Given the description of an element on the screen output the (x, y) to click on. 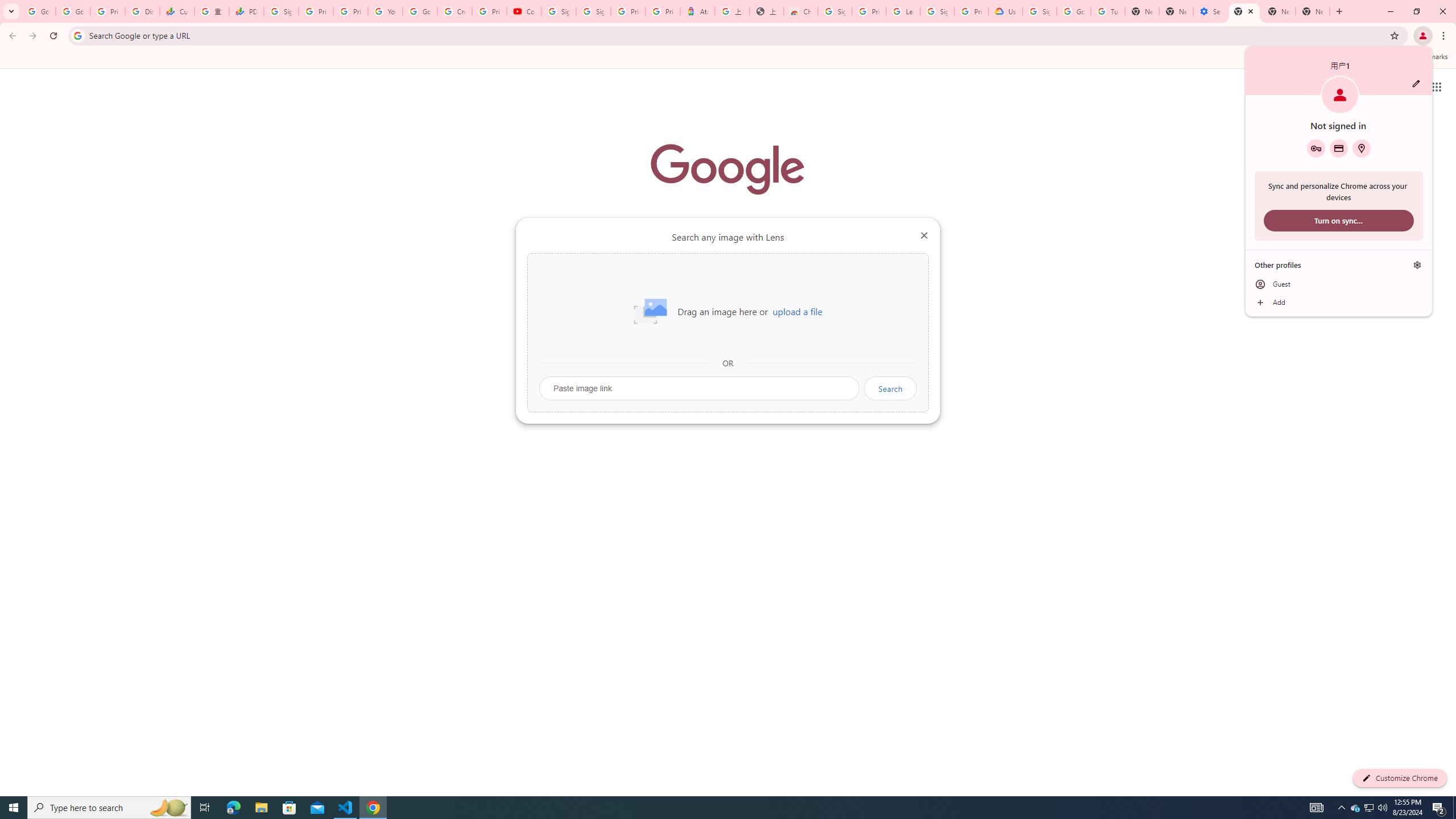
Customize profile (1415, 83)
Visual Studio Code - 1 running window (345, 807)
Sign in - Google Accounts (557, 11)
Turn cookies on or off - Computer - Google Account Help (1107, 11)
YouTube (384, 11)
Notification Chevron (1341, 807)
Microsoft Edge (233, 807)
Sign in - Google Accounts (1368, 807)
Atour Hotel - Google hotels (834, 11)
File Explorer (697, 11)
